Given the description of an element on the screen output the (x, y) to click on. 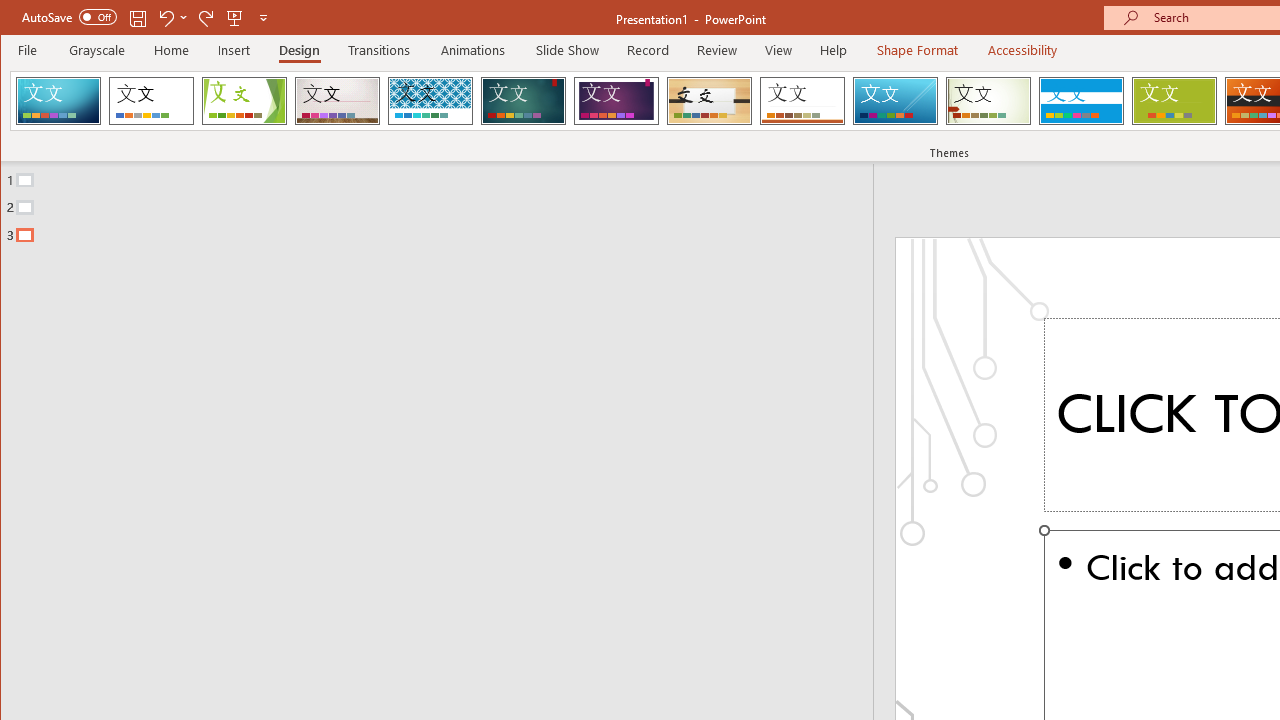
Grayscale (97, 50)
Basis (1174, 100)
Ion (523, 100)
Organic (709, 100)
Dividend (57, 100)
